Given the description of an element on the screen output the (x, y) to click on. 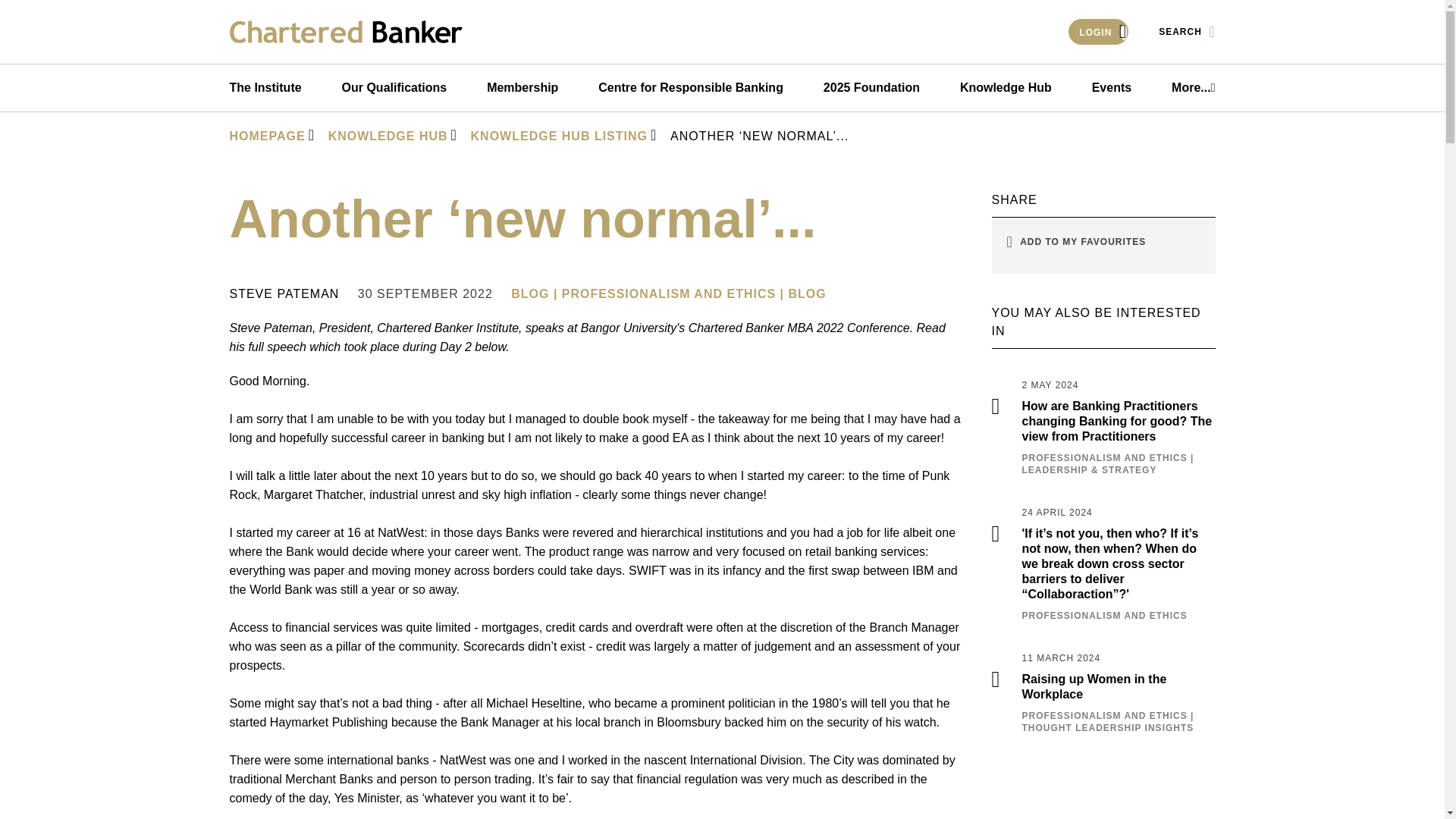
Our Qualifications (394, 87)
LOGIN (1098, 31)
Membership (521, 87)
The Institute (264, 87)
SEARCH (1186, 31)
